Given the description of an element on the screen output the (x, y) to click on. 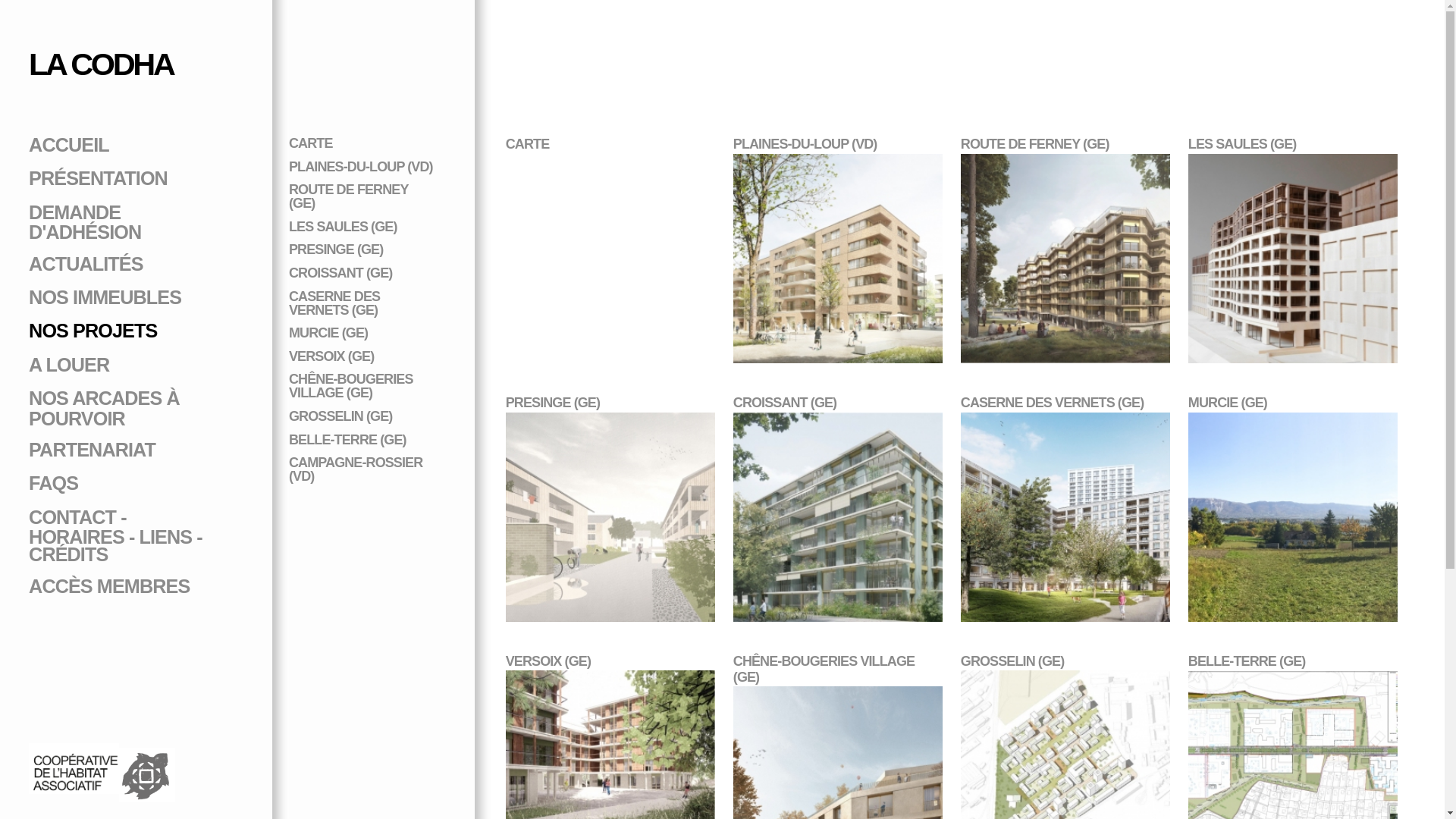
CARTE Element type: text (310, 142)
NOS PROJETS Element type: text (92, 330)
BELLE-TERRE (GE) Element type: text (347, 439)
PRESINGE (GE) Element type: text (335, 249)
CASERNE DES VERNETS (GE) Element type: text (333, 302)
ACCUEIL Element type: text (68, 144)
FAQS Element type: text (53, 482)
PLAINES-DU-LOUP (VD) Element type: text (360, 166)
CAMPAGNE-ROSSIER (VD) Element type: text (355, 469)
MURCIE (GE) Element type: text (327, 332)
LES SAULES (GE) Element type: text (342, 226)
LA CODHA Element type: text (100, 64)
CROISSANT (GE) Element type: text (340, 272)
PARTENARIAT Element type: text (91, 449)
GROSSELIN (GE) Element type: text (340, 415)
VERSOIX (GE) Element type: text (330, 356)
NOS IMMEUBLES Element type: text (104, 296)
ROUTE DE FERNEY (GE) Element type: text (347, 196)
A LOUER Element type: text (68, 364)
